Given the description of an element on the screen output the (x, y) to click on. 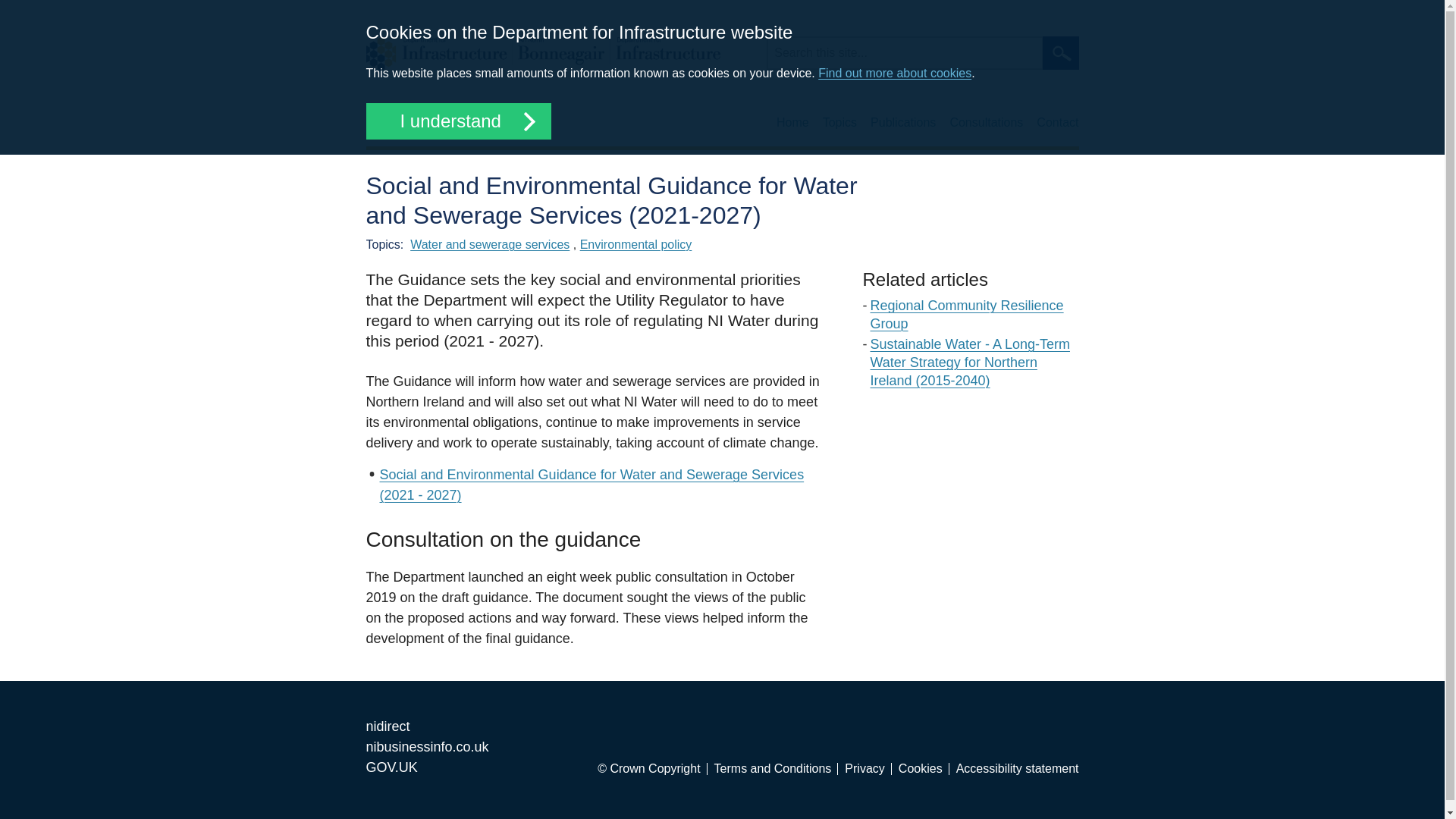
Search (1060, 52)
Water and sewerage services (489, 244)
Terms and Conditions (776, 768)
nidirect (387, 726)
Publications (903, 122)
Home (792, 122)
Cookies (923, 768)
Search (1060, 52)
I understand (457, 121)
Contact (1057, 122)
Enter the terms you wish to search for (904, 52)
Topics (839, 122)
Regional Community Resilience Group (967, 314)
Accessibility statement (1017, 768)
nibusinessinfo.co.uk (426, 746)
